Given the description of an element on the screen output the (x, y) to click on. 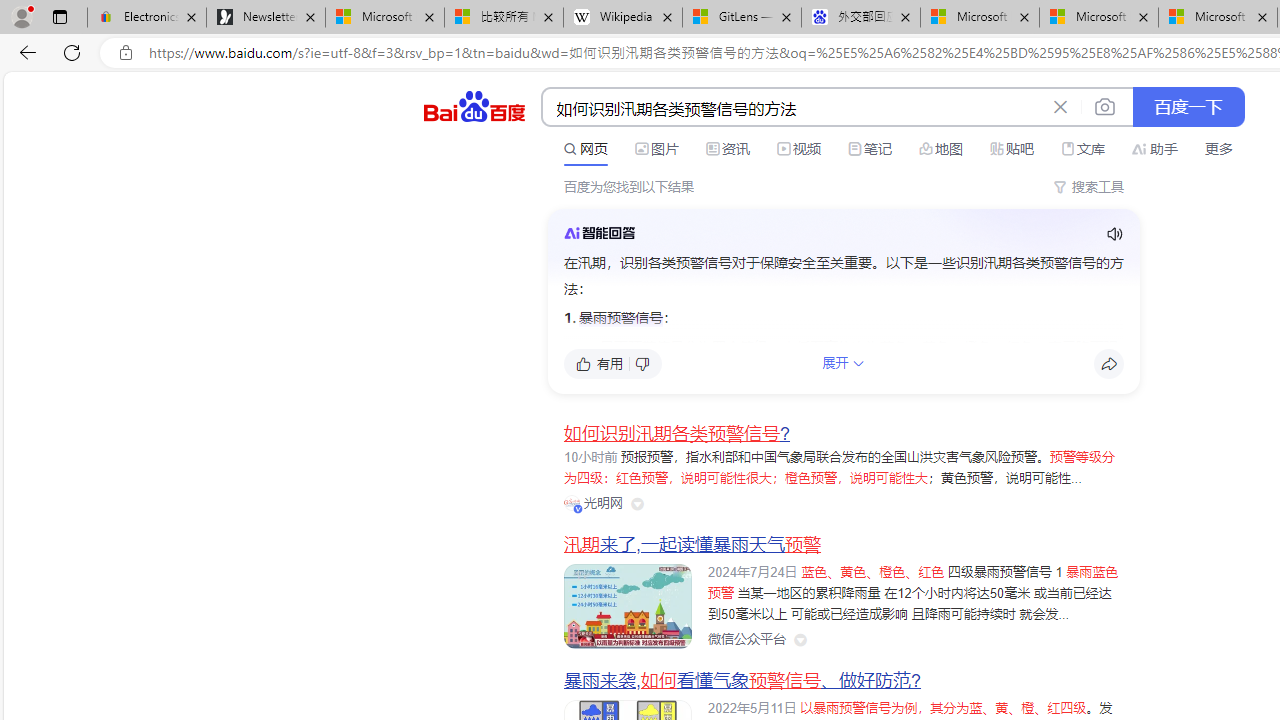
Class: sc-audio-svg _pause-icon_13ucw_87 (1114, 233)
Class: vip-icon_kNmNt (577, 508)
